Given the description of an element on the screen output the (x, y) to click on. 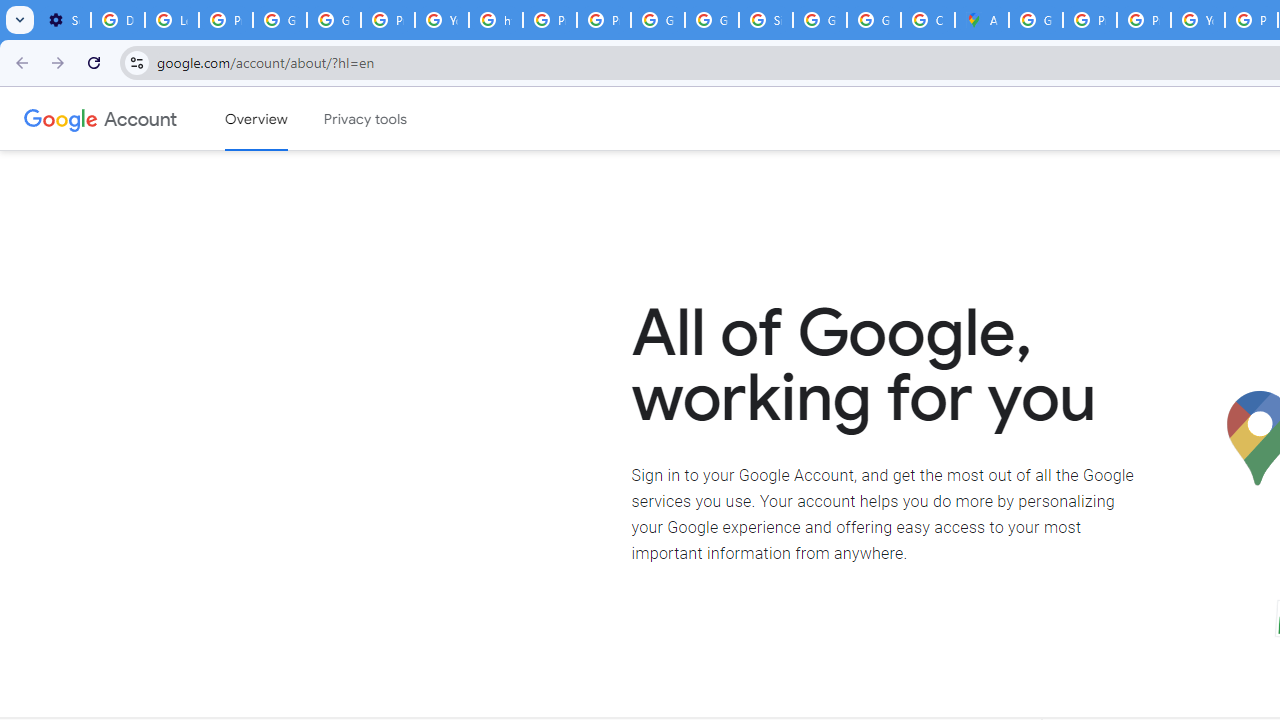
Learn how to find your photos - Google Photos Help (171, 20)
Google Account (140, 118)
https://scholar.google.com/ (495, 20)
Privacy Help Center - Policies Help (1144, 20)
Create your Google Account (927, 20)
Settings - Performance (63, 20)
Delete photos & videos - Computer - Google Photos Help (117, 20)
